Given the description of an element on the screen output the (x, y) to click on. 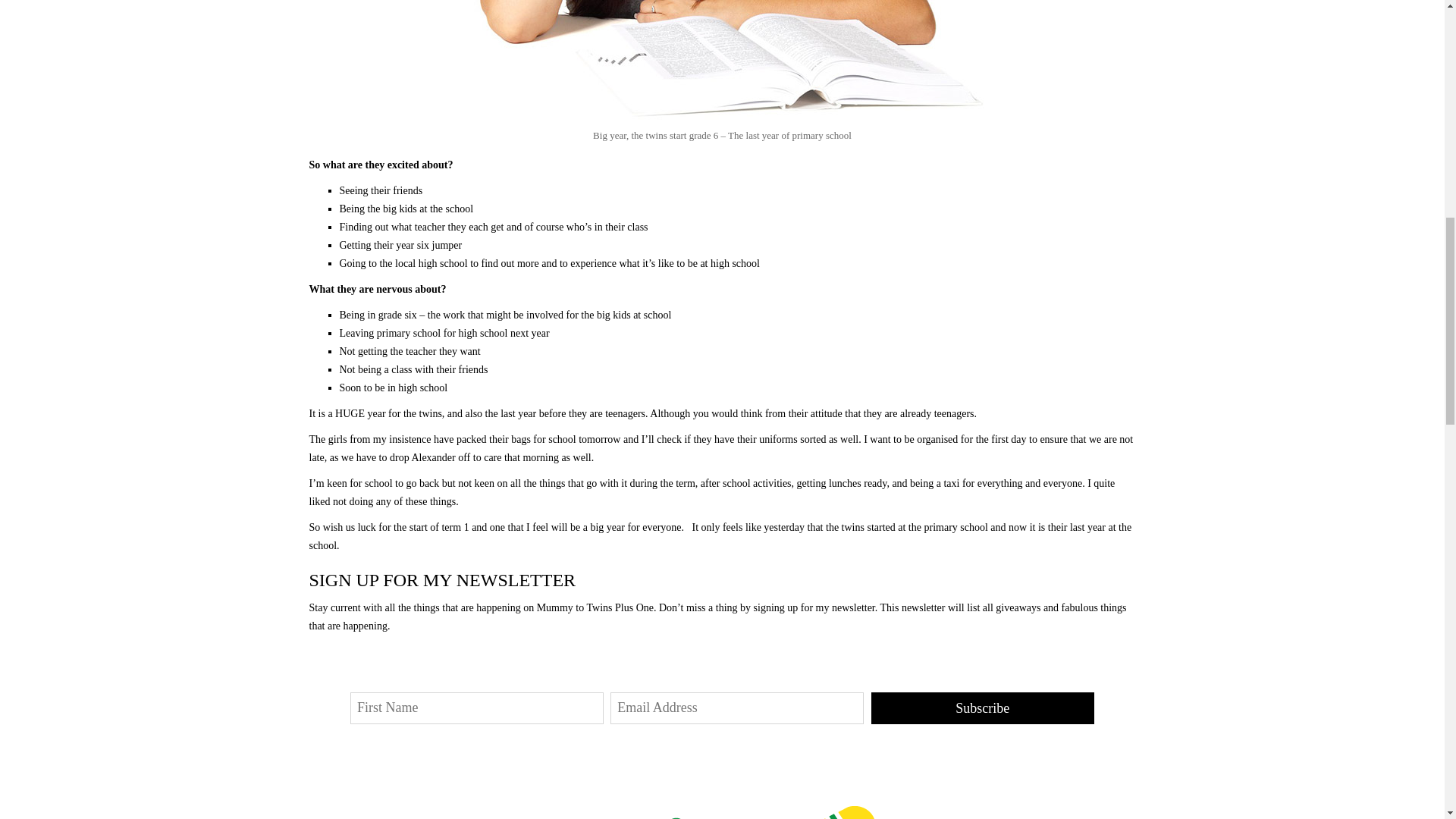
Subscribe (982, 707)
